Given the description of an element on the screen output the (x, y) to click on. 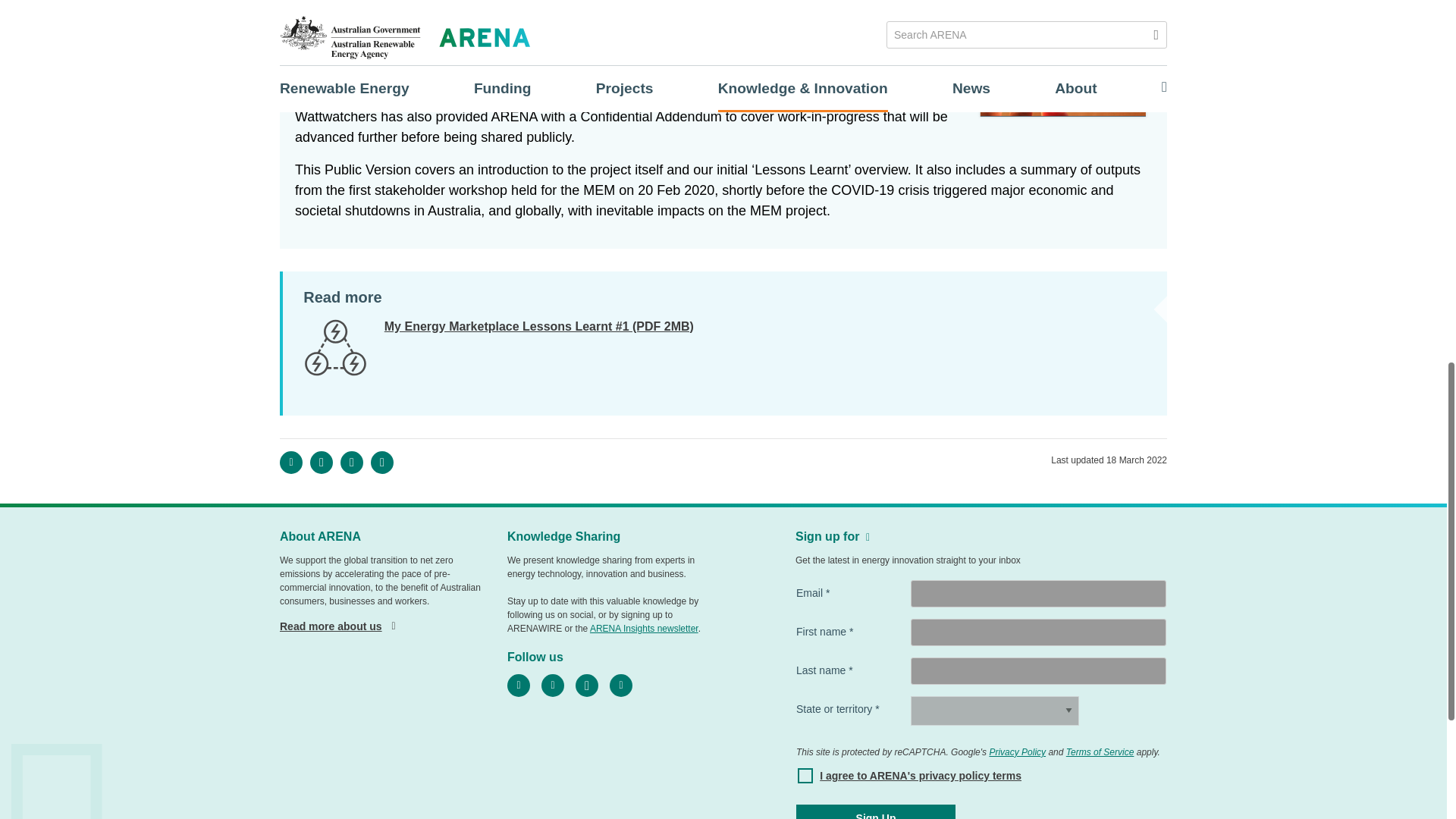
Sign Up (875, 811)
